Given the description of an element on the screen output the (x, y) to click on. 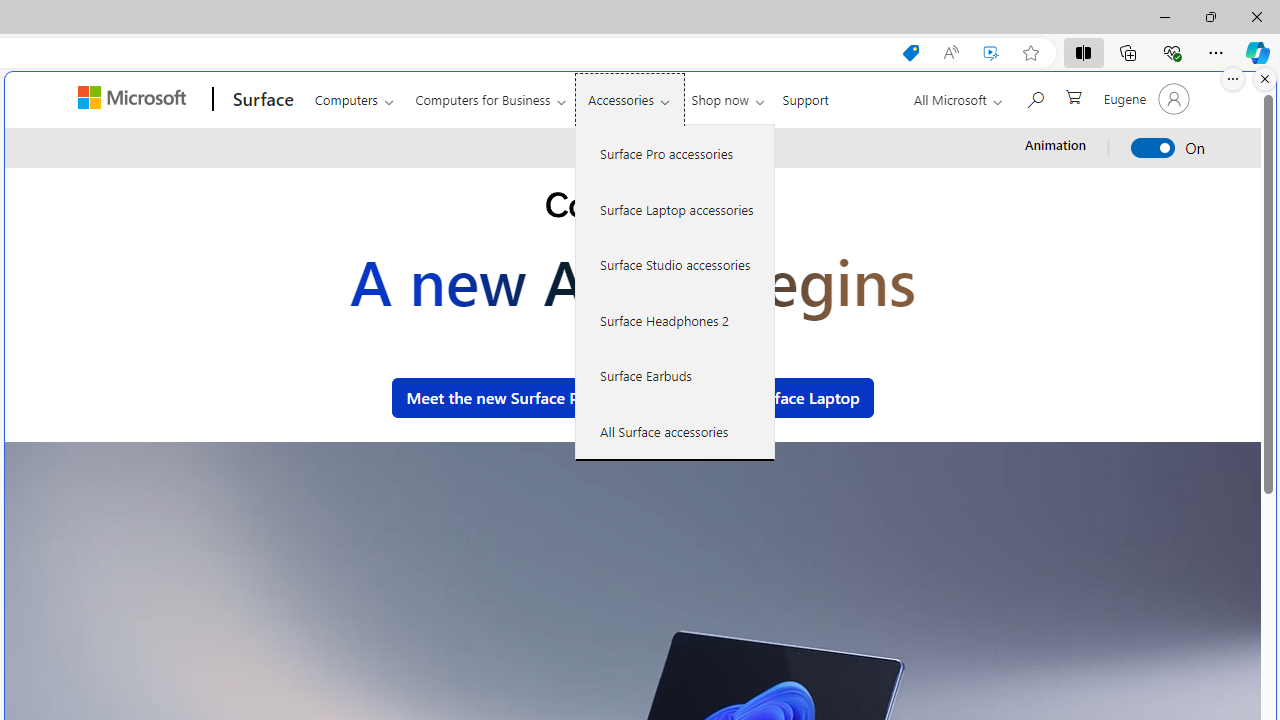
Surface Headphones 2 (675, 319)
Meet the new Surface Laptop (753, 397)
Animation On (1153, 147)
Surface (260, 99)
Surface Pro accessories (675, 153)
Enhance video (991, 53)
Surface Earbuds (675, 375)
